Given the description of an element on the screen output the (x, y) to click on. 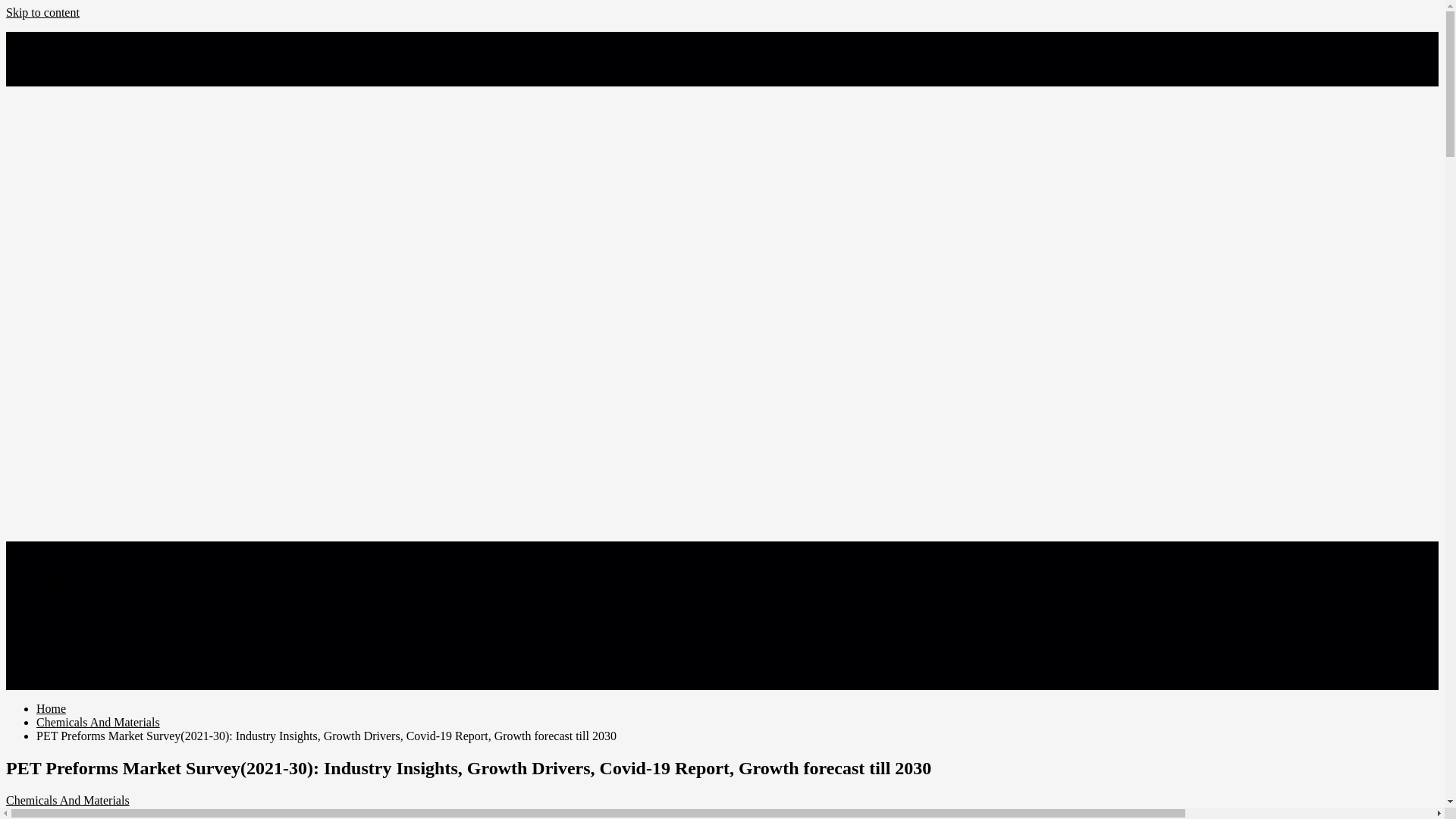
Education (60, 573)
Admin (199, 813)
Travel (51, 655)
Health (52, 614)
Lifestyle (58, 641)
Technology (64, 600)
Sign Up (56, 78)
Sport (49, 682)
Home (50, 707)
Business (58, 586)
